Given the description of an element on the screen output the (x, y) to click on. 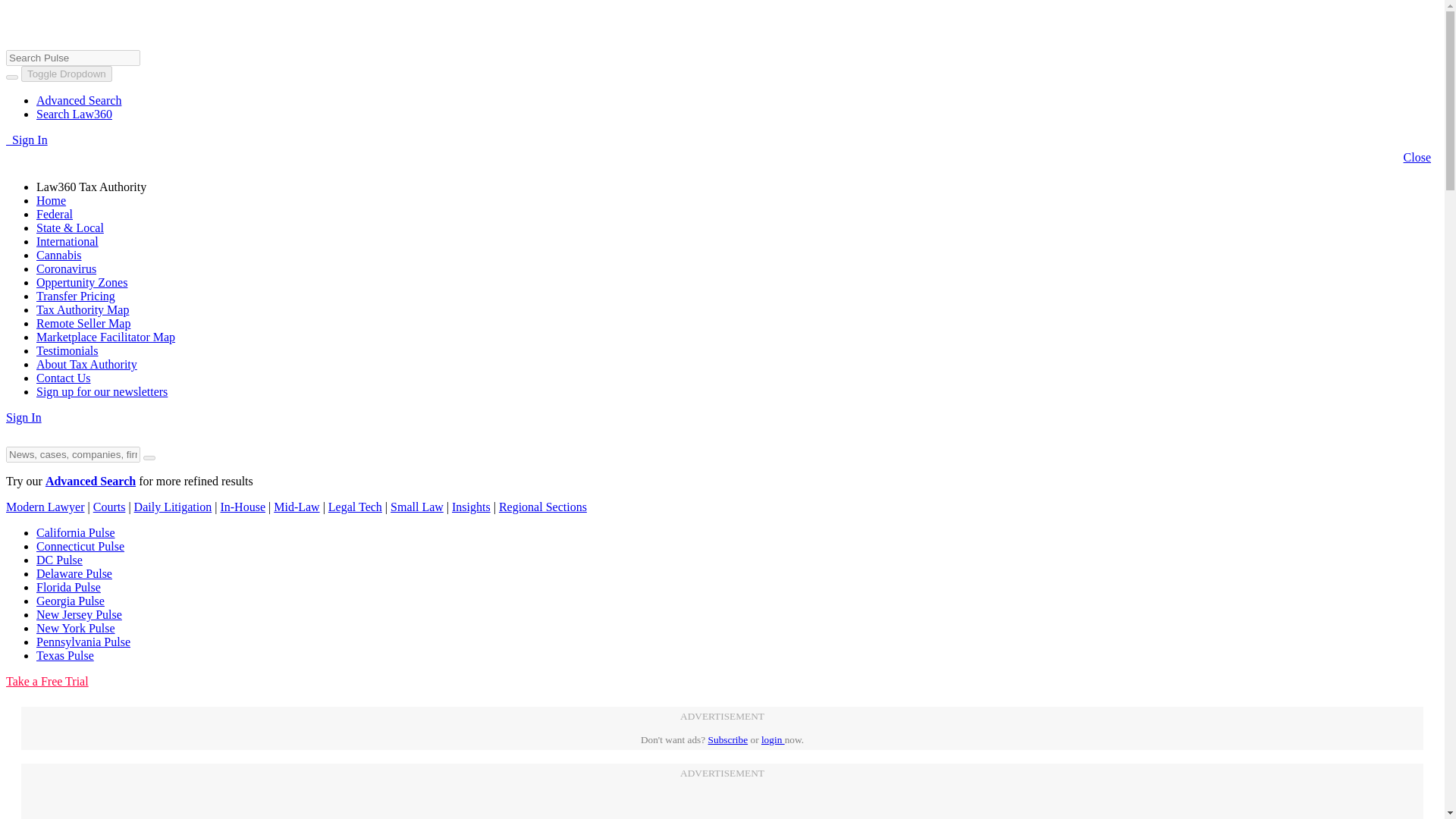
Advanced Search (78, 100)
TA Coronavirus (66, 268)
Transfer Pricing (75, 295)
Sign In (23, 417)
About Law360 Tax Authority (86, 364)
Tax Authority Map (82, 309)
Insights (470, 506)
Marketplace Facilitator Map (105, 336)
Courts (109, 506)
Cannabis (58, 254)
Contact Law360 Tax Authority (63, 377)
About Tax Authority (86, 364)
California Pulse (75, 532)
Federal (54, 214)
Daily Litigation (172, 506)
